Given the description of an element on the screen output the (x, y) to click on. 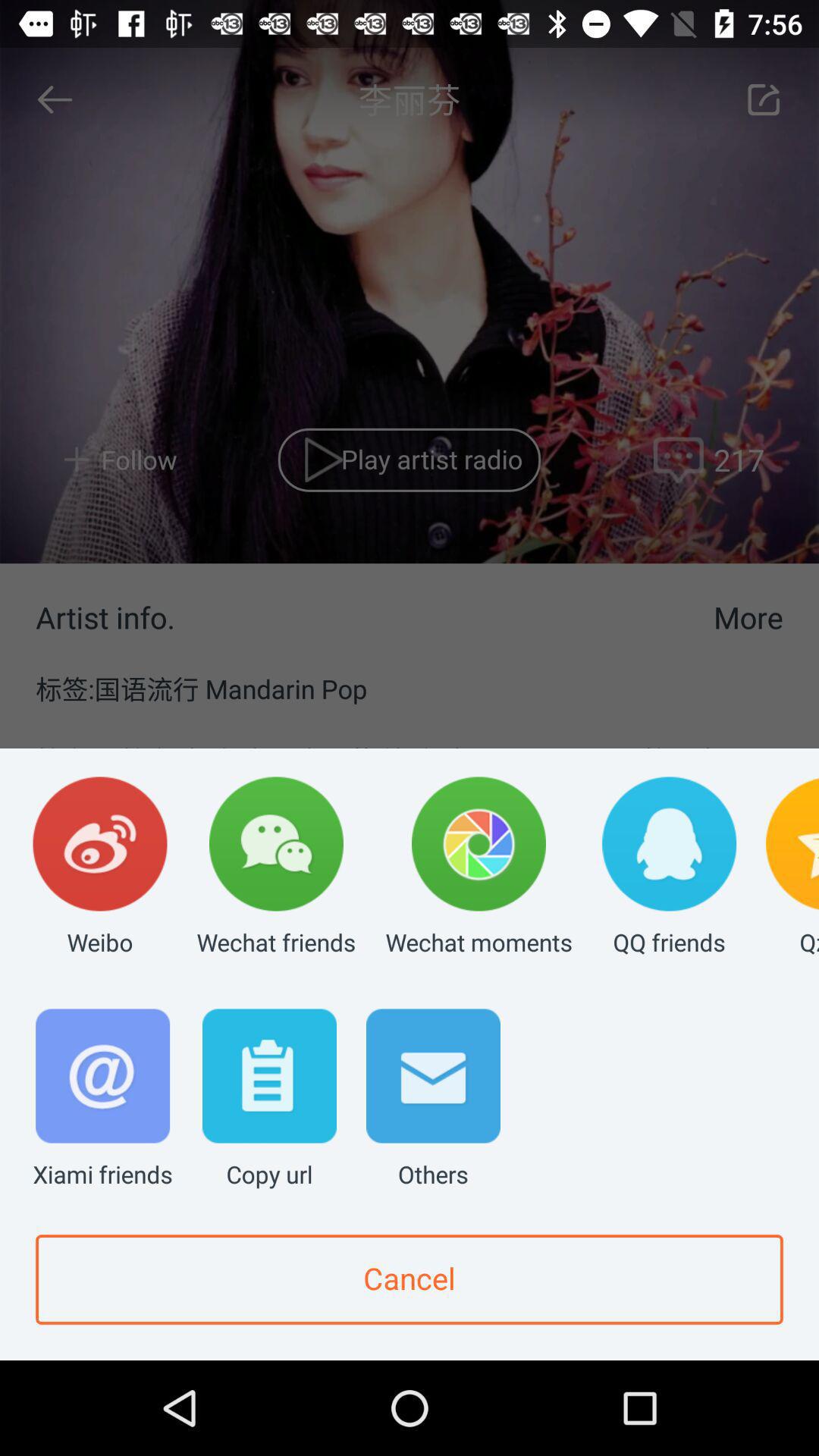
tap the icon next to qzone (669, 867)
